Given the description of an element on the screen output the (x, y) to click on. 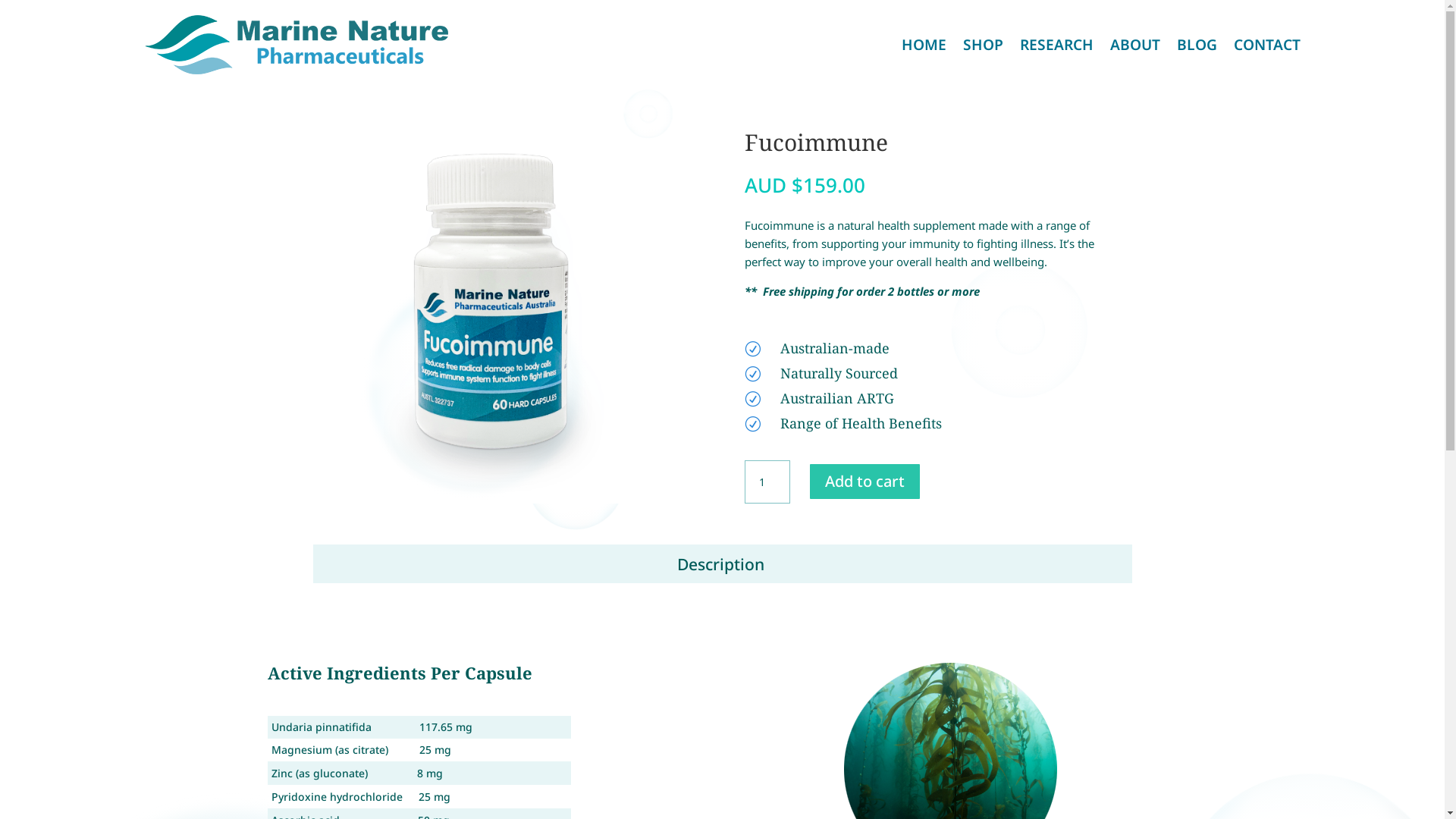
CONTACT Element type: text (1266, 44)
RESEARCH Element type: text (1055, 44)
HOME Element type: text (922, 44)
ABOUT Element type: text (1135, 44)
SHOP Element type: text (983, 44)
Group 266 Element type: hover (505, 314)
BLOG Element type: text (1196, 44)
Add to cart Element type: text (864, 481)
